Given the description of an element on the screen output the (x, y) to click on. 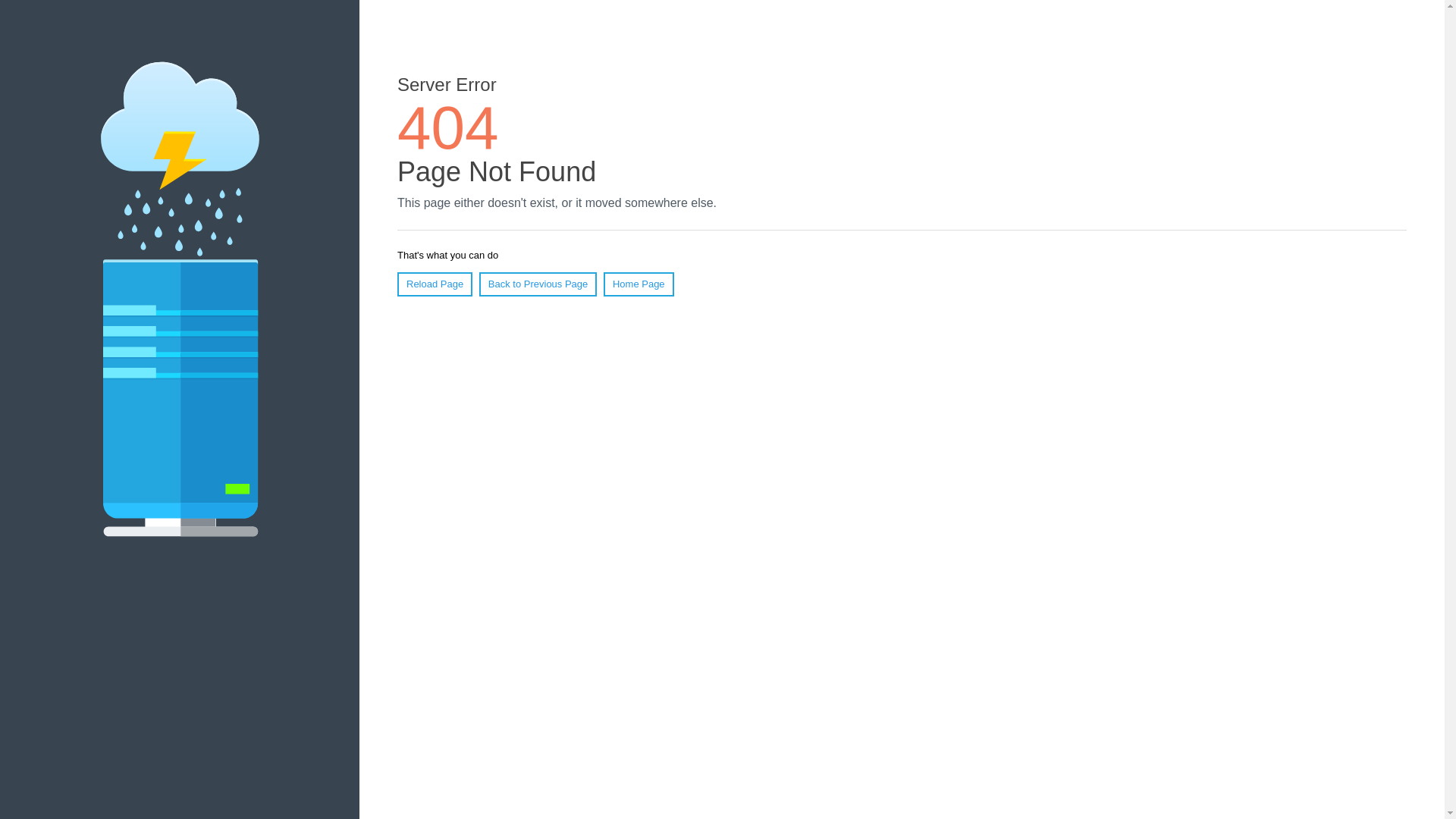
Back to Previous Page Element type: text (538, 284)
Home Page Element type: text (638, 284)
Reload Page Element type: text (434, 284)
